Given the description of an element on the screen output the (x, y) to click on. 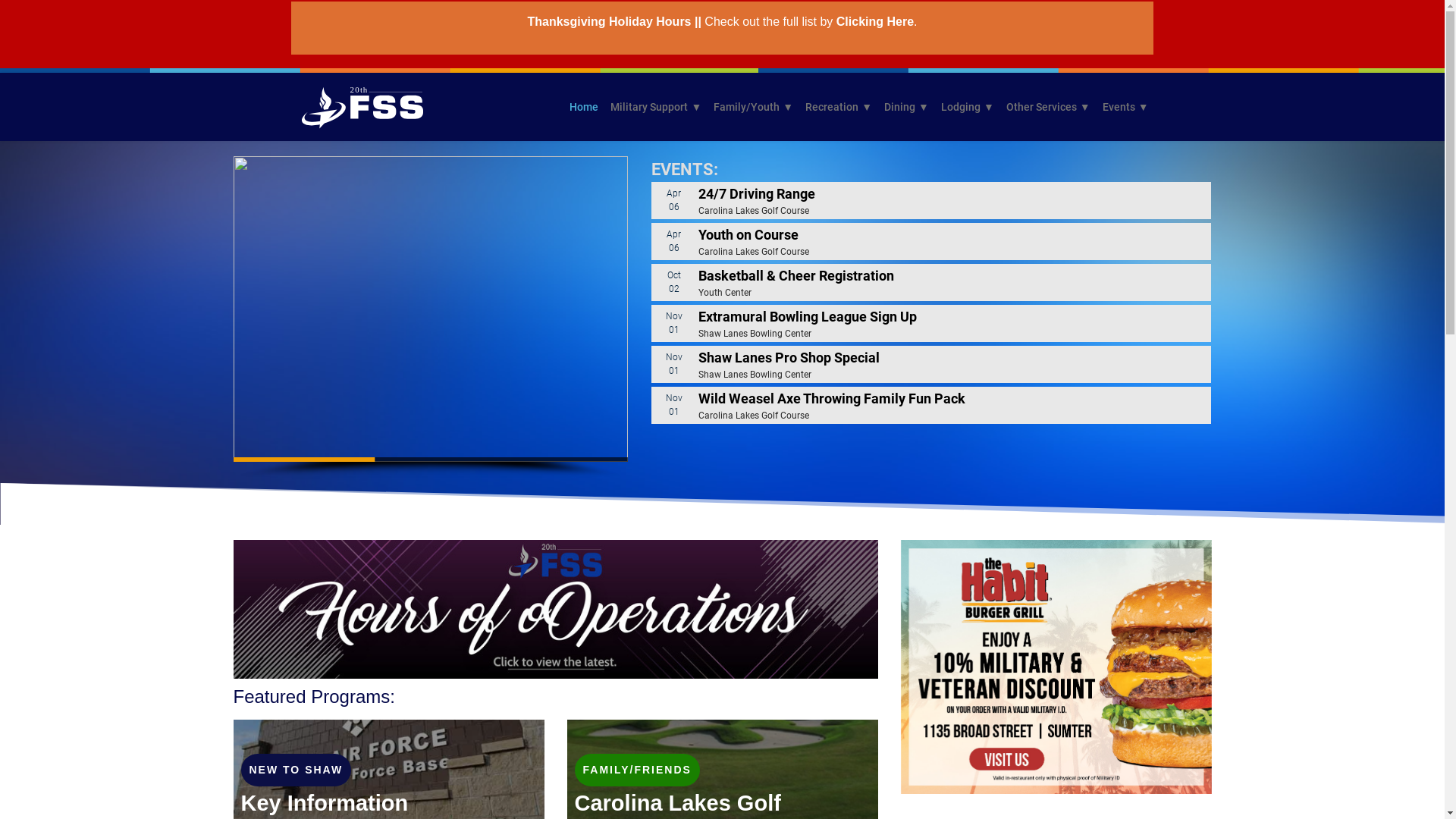
The Habit Element type: hover (1055, 666)
EVENTS: Element type: text (930, 169)
Events Element type: text (1125, 106)
Home Element type: text (583, 106)
Key Information Element type: text (324, 807)
NEW TO SHAW Element type: text (296, 769)
Clicking Here Element type: text (874, 21)
FAMILY/FRIENDS Element type: text (636, 769)
Carolina Lakes Golf Element type: text (677, 807)
